Given the description of an element on the screen output the (x, y) to click on. 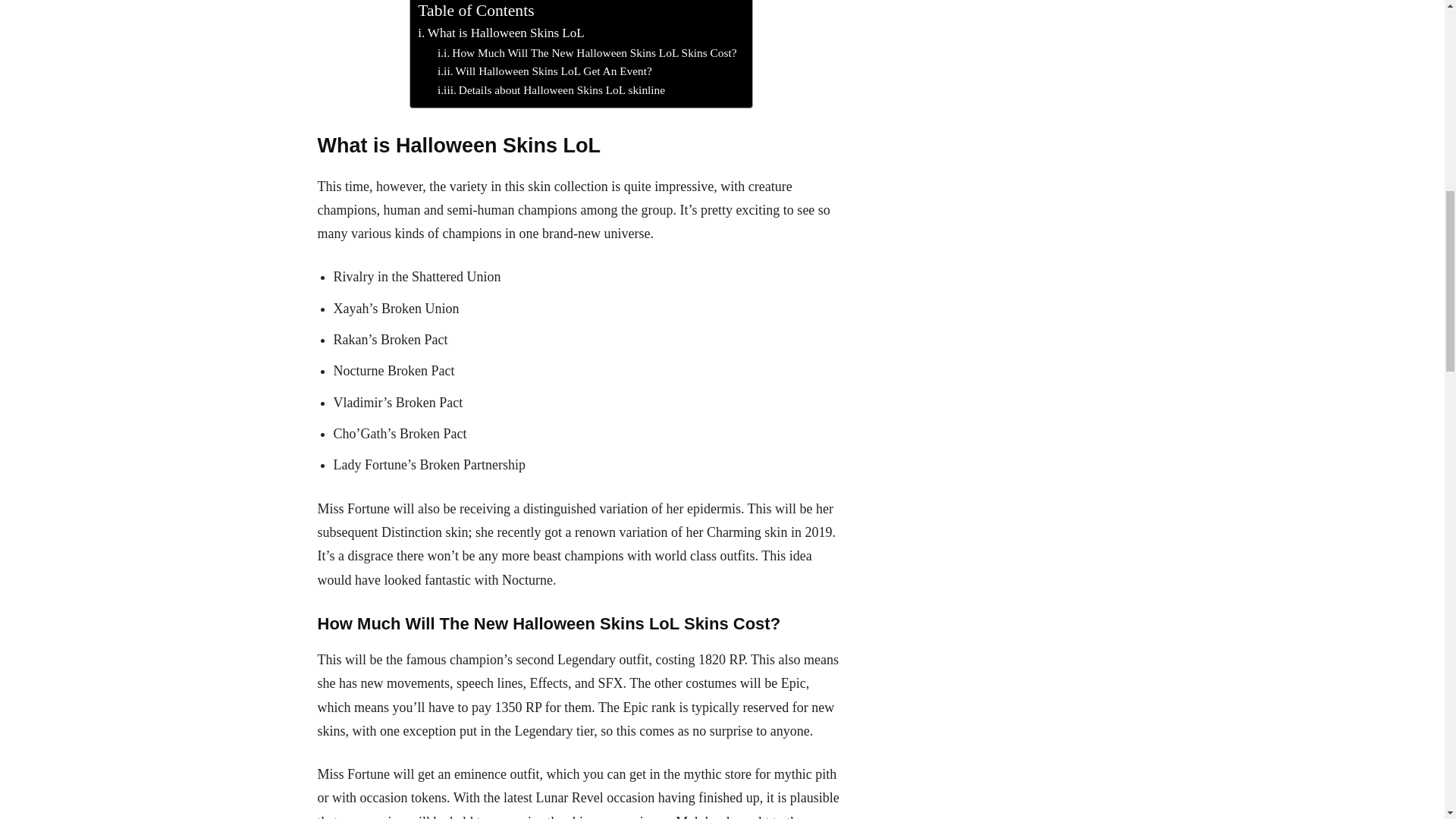
Details about Halloween Skins LoL skinline (551, 90)
Will Halloween Skins LoL Get An Event? (545, 71)
What is Halloween Skins LoL (500, 32)
How Much Will The New Halloween Skins LoL Skins Cost? (587, 53)
What is Halloween Skins LoL (500, 32)
Details about Halloween Skins LoL skinline (551, 90)
How Much Will The New Halloween Skins LoL Skins Cost? (587, 53)
Will Halloween Skins LoL Get An Event? (545, 71)
